Given the description of an element on the screen output the (x, y) to click on. 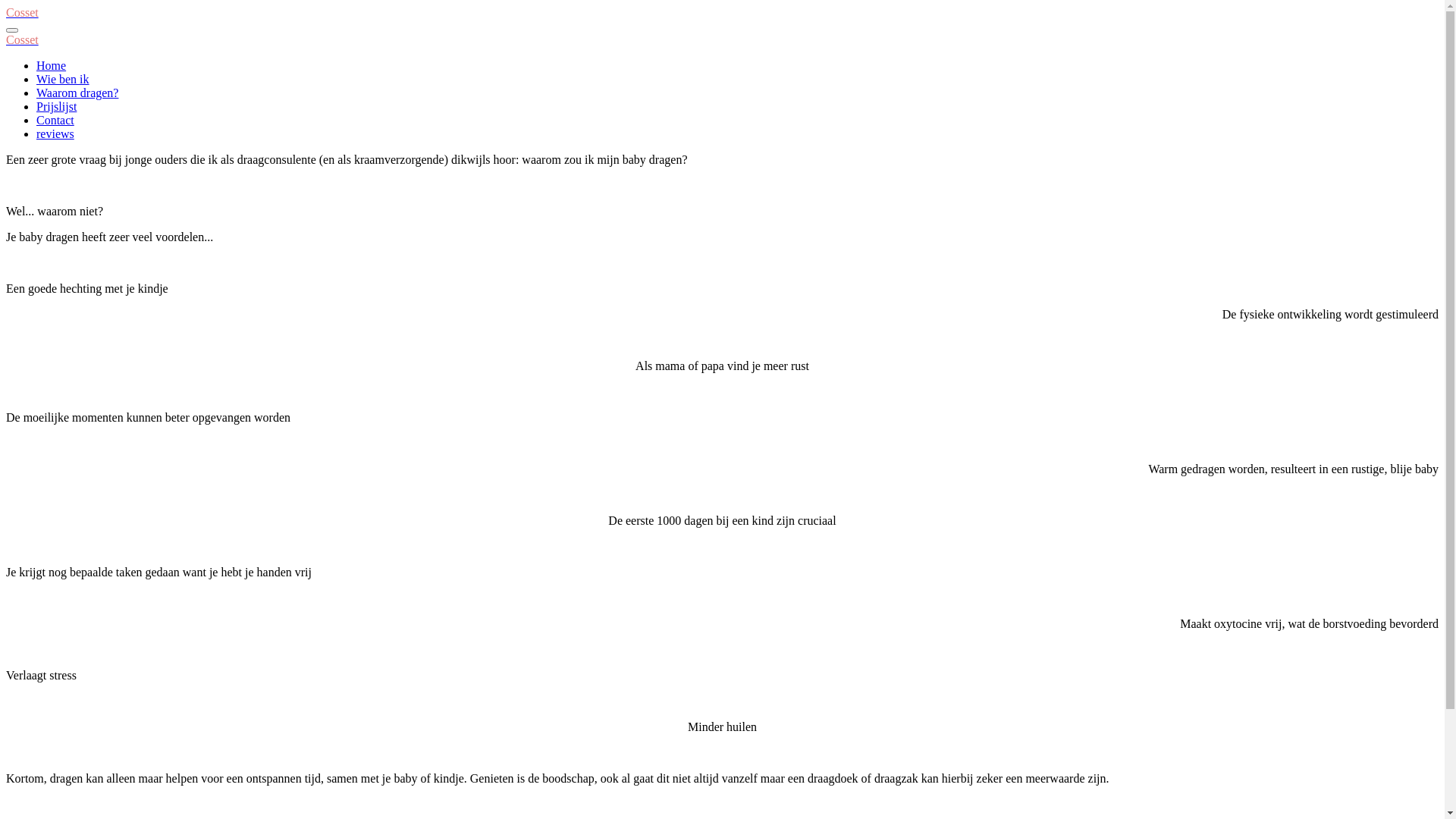
Cosset Element type: text (22, 39)
Cosset Element type: text (22, 12)
Wie ben ik Element type: text (62, 78)
Home Element type: text (50, 65)
Contact Element type: text (55, 119)
reviews Element type: text (55, 133)
Prijslijst Element type: text (56, 106)
Waarom dragen? Element type: text (77, 92)
